Given the description of an element on the screen output the (x, y) to click on. 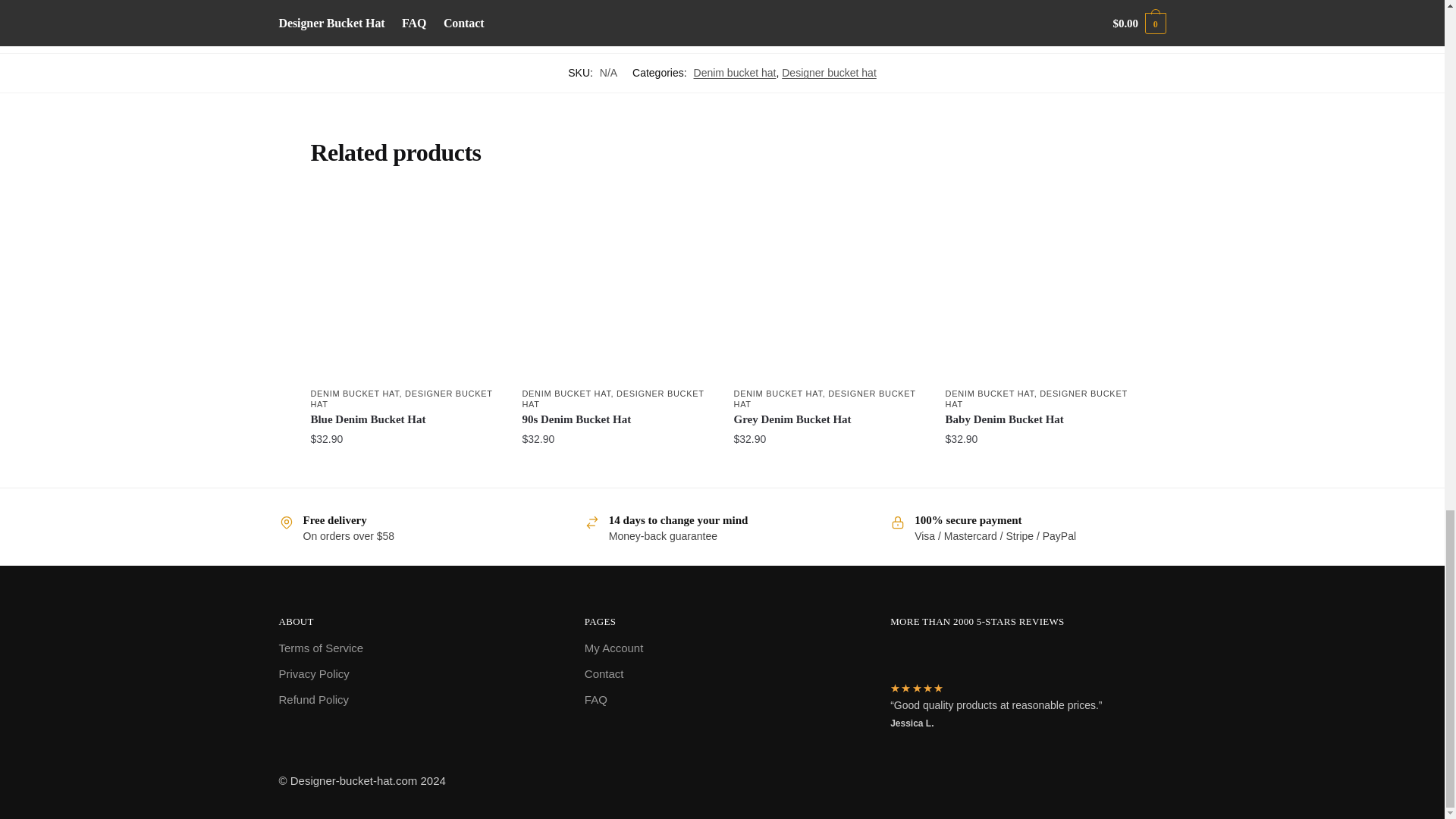
DENIM BUCKET HAT (565, 393)
90s Denim Bucket Hat (615, 419)
Designer bucket hat (828, 72)
Denim bucket hat (735, 72)
Blue Denim Bucket Hat (404, 285)
DENIM BUCKET HAT (354, 393)
Grey Denim Bucket Hat (828, 285)
Blue Denim Bucket Hat (404, 419)
Baby Denim Bucket Hat (1039, 285)
90s Denim Bucket Hat (615, 285)
DESIGNER BUCKET HAT (612, 398)
DESIGNER BUCKET HAT (401, 398)
